Given the description of an element on the screen output the (x, y) to click on. 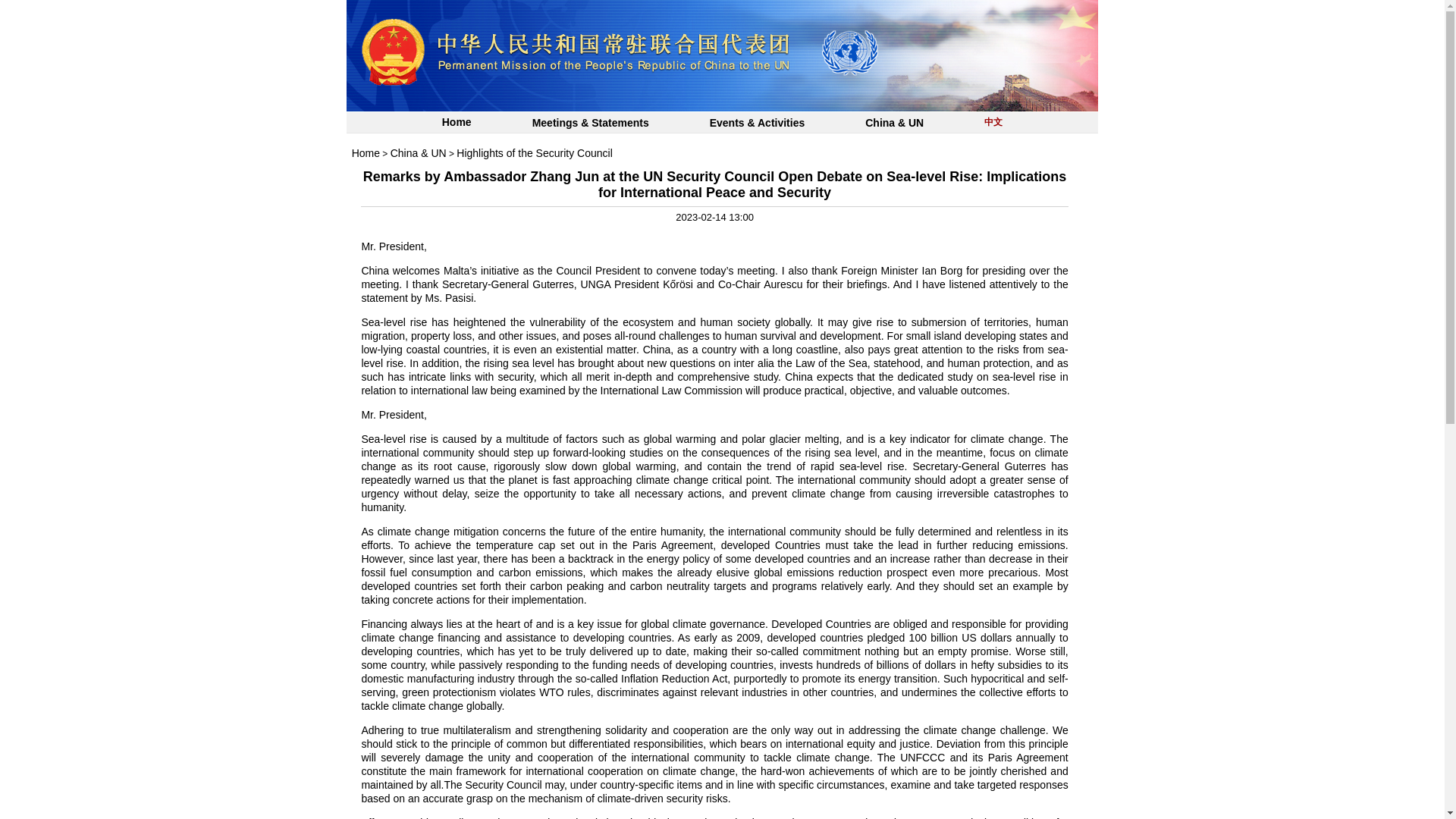
Highlights of the Security Council (534, 152)
Home (456, 122)
Home (366, 152)
Highlights of the Security Council (534, 152)
Home (366, 152)
